Given the description of an element on the screen output the (x, y) to click on. 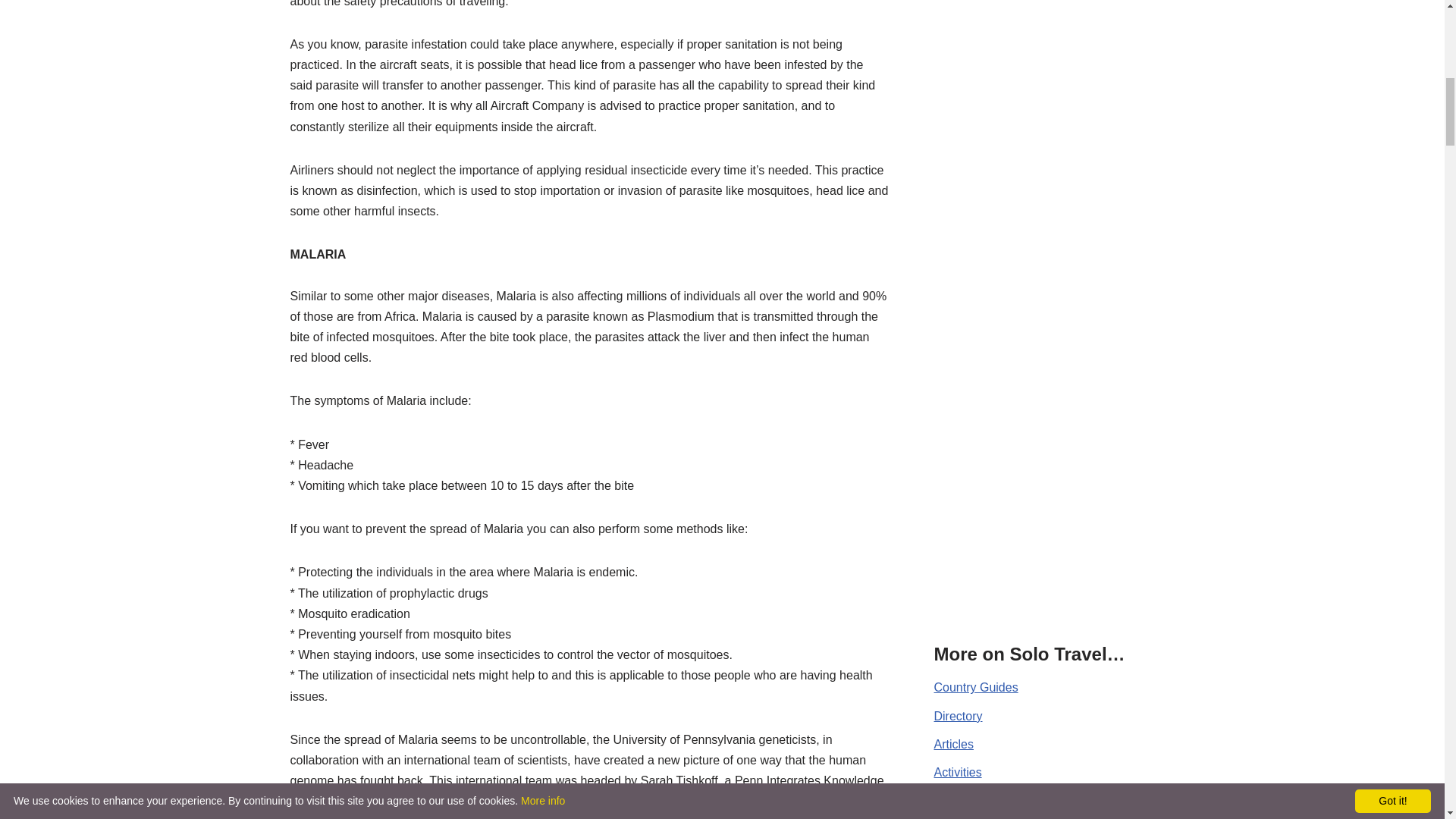
Directory (958, 716)
Activities (957, 771)
Country Guides (975, 686)
Articles (954, 744)
Humor (952, 799)
